Given the description of an element on the screen output the (x, y) to click on. 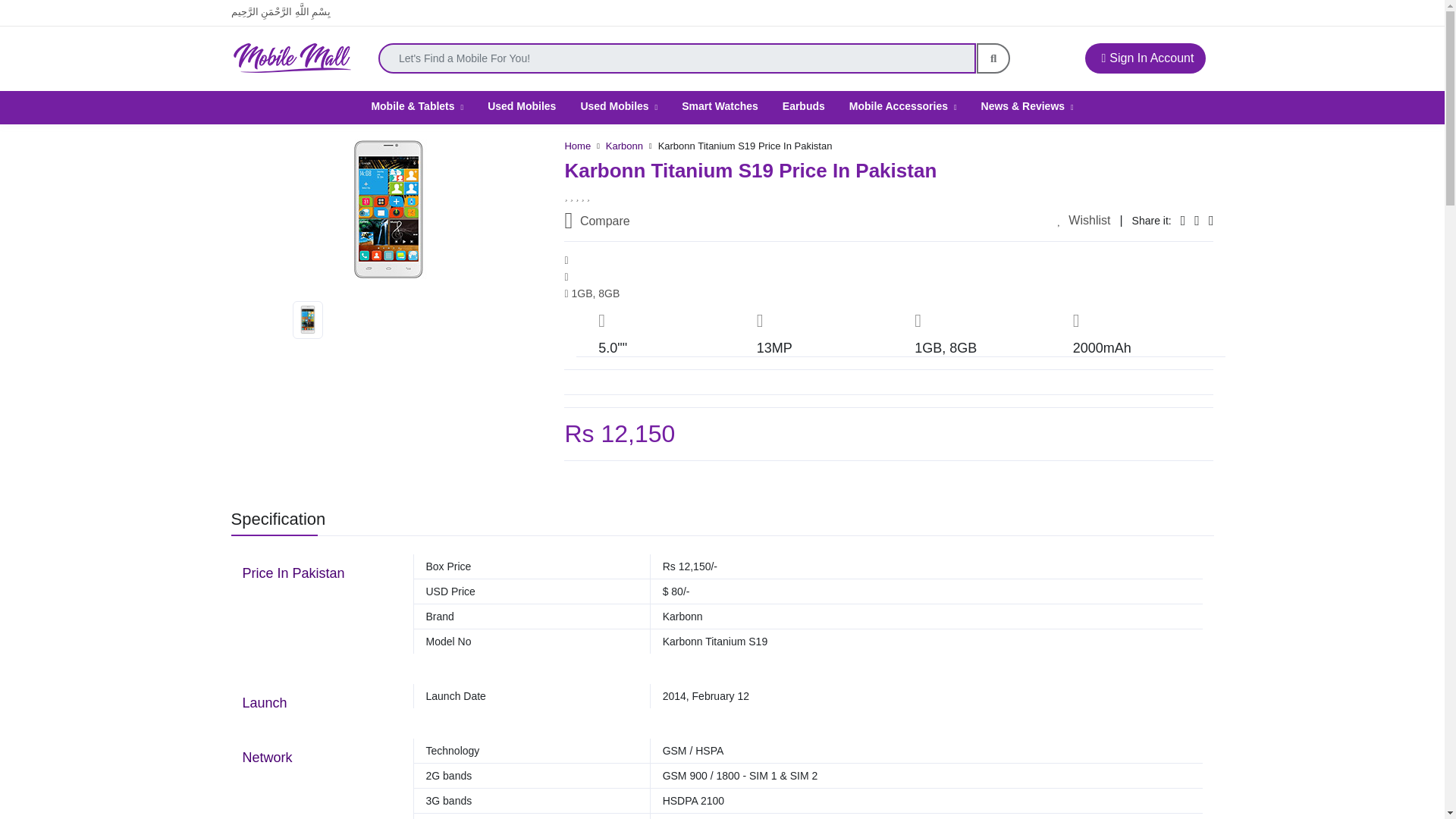
Used Mobiles (618, 105)
Search (993, 57)
Smart Watches (719, 105)
Earbuds (804, 105)
Used Mobiles (521, 105)
